Given the description of an element on the screen output the (x, y) to click on. 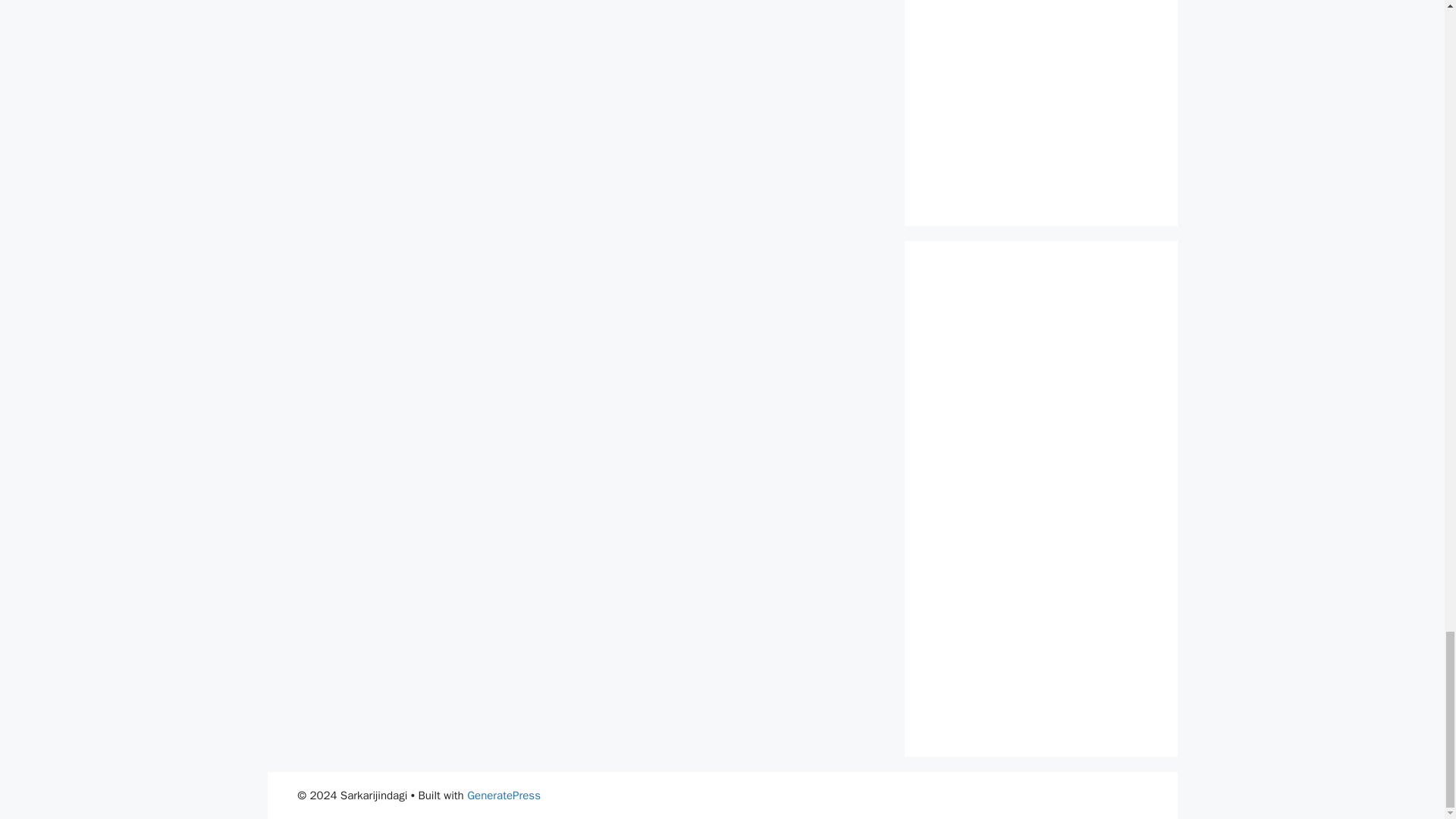
GeneratePress (503, 795)
Advertisement (1040, 97)
